Given the description of an element on the screen output the (x, y) to click on. 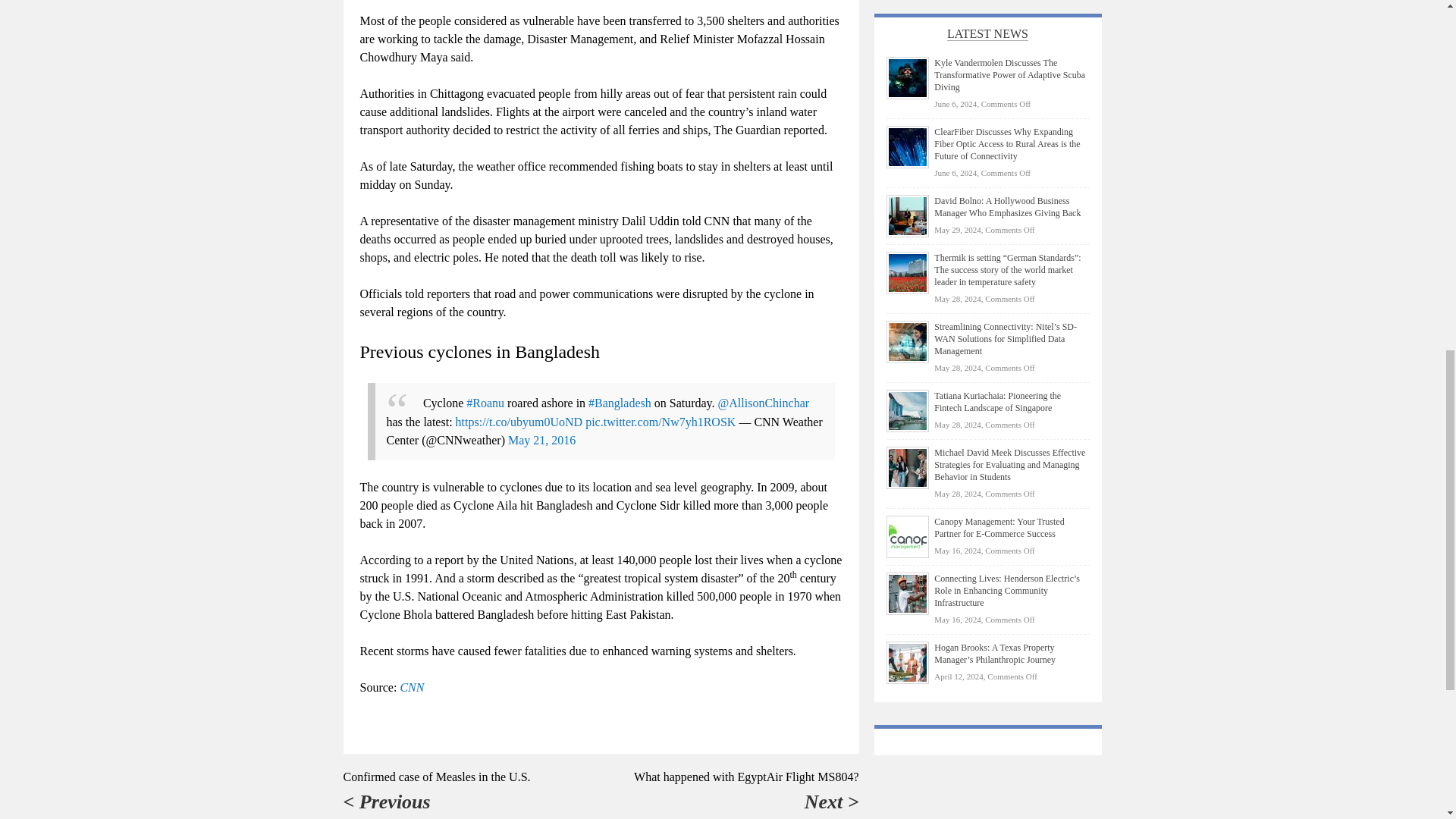
Confirmed case of Measles in the U.S. (435, 776)
CNN (410, 686)
May 21, 2016 (541, 440)
What happened with EgyptAir Flight MS804? (746, 776)
